Given the description of an element on the screen output the (x, y) to click on. 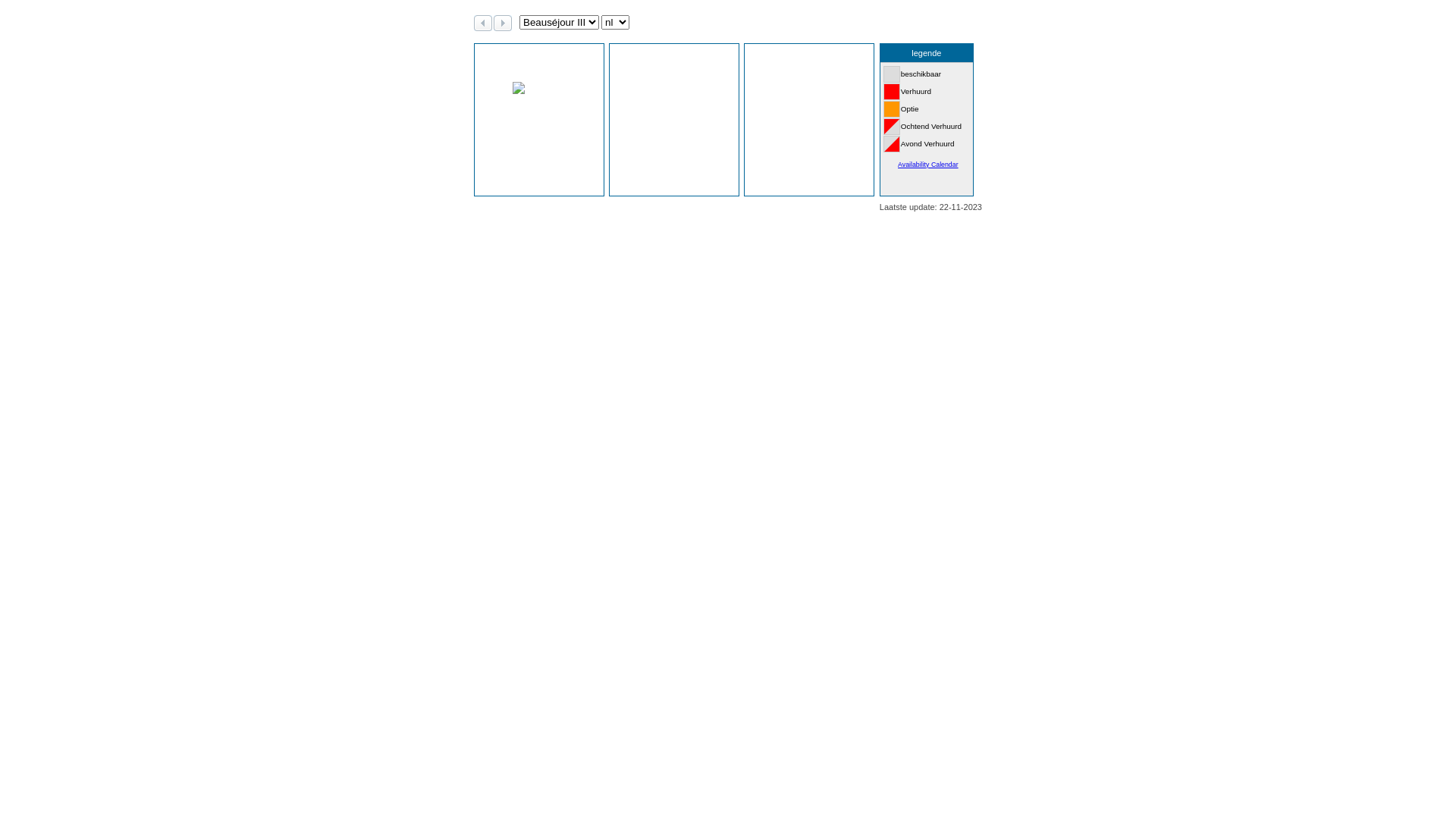
vorige maanden Element type: hover (482, 25)
Availability Calendar Element type: text (927, 164)
volgende maanden Element type: hover (502, 25)
